Given the description of an element on the screen output the (x, y) to click on. 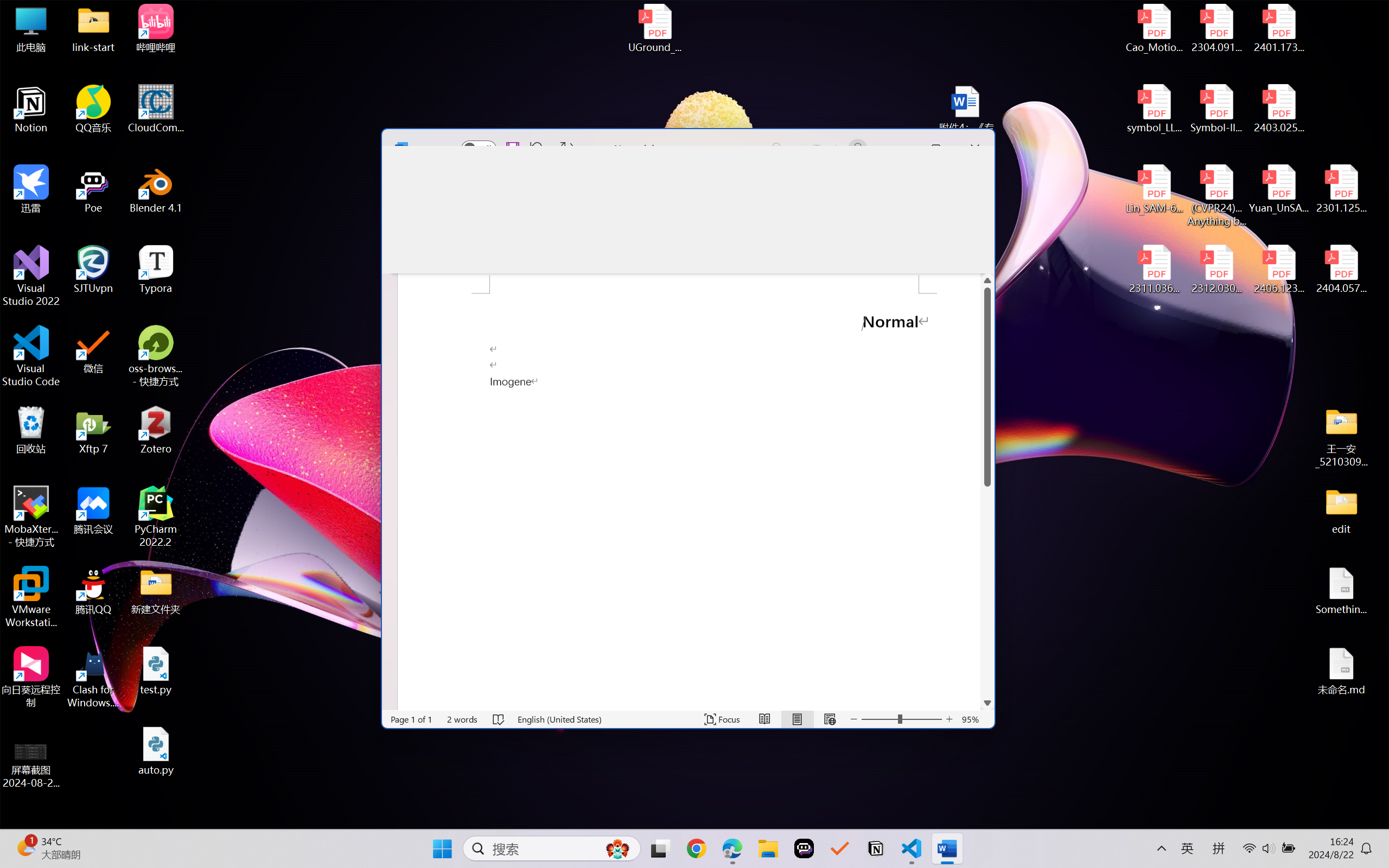
PyCharm 2022.2 (156, 516)
2406.12373v2.pdf (1278, 269)
Column right (973, 703)
UGround_paper.pdf (654, 28)
Highlighter: Yellow, 6 mm (691, 223)
2401.17399v1.pdf (1278, 28)
